Given the description of an element on the screen output the (x, y) to click on. 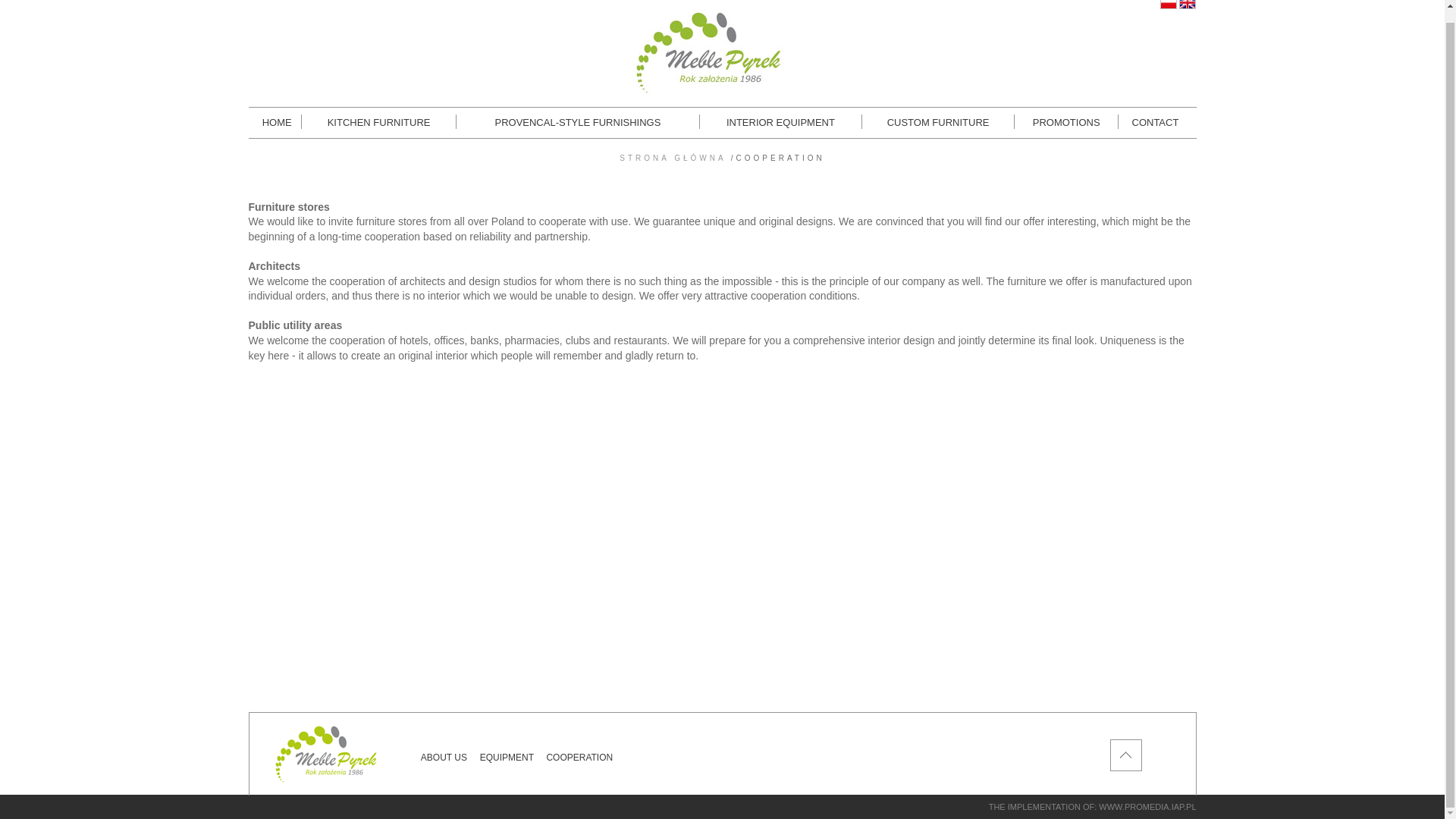
PROMOTIONS (1065, 122)
CONTACT (1154, 122)
CUSTOM FURNITURE (937, 122)
COOPERATION (579, 757)
ABOUT US (443, 757)
INTERIOR EQUIPMENT (781, 122)
WWW.PROMEDIA.IAP.PL (1147, 806)
EQUIPMENT (507, 757)
HOME (277, 122)
PROVENCAL-STYLE FURNISHINGS (577, 122)
KITCHEN FURNITURE (378, 122)
